Given the description of an element on the screen output the (x, y) to click on. 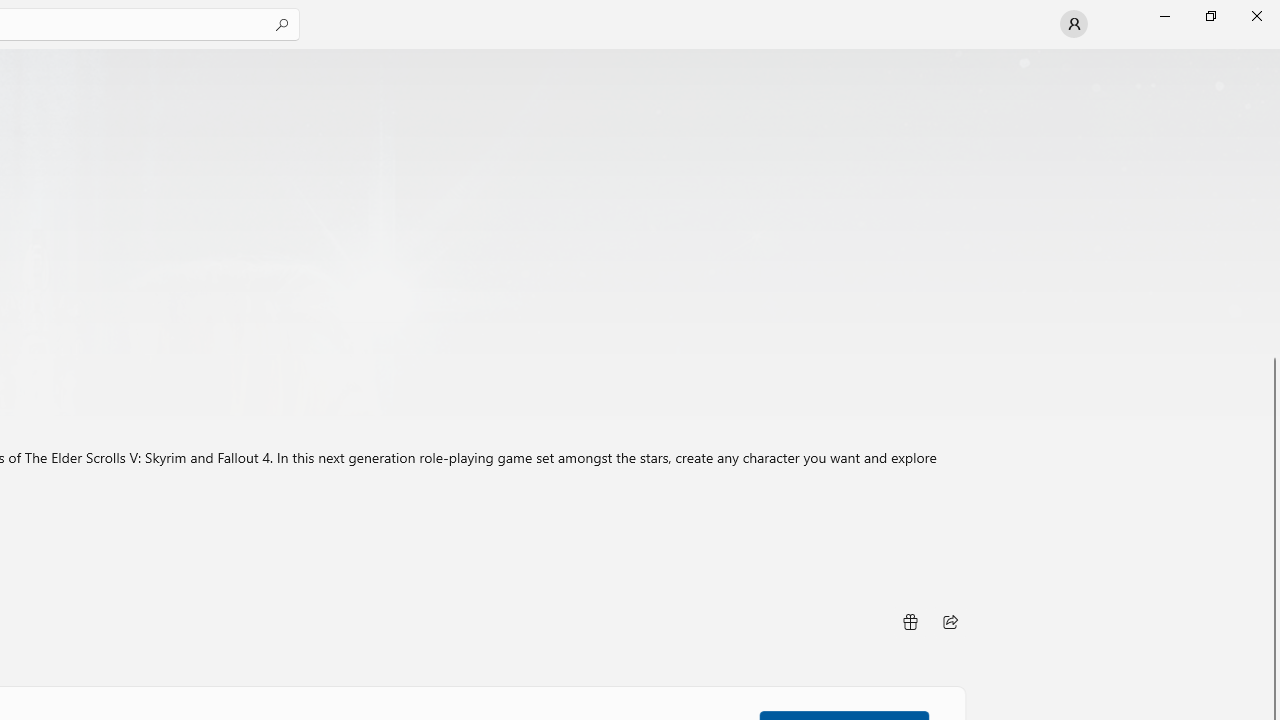
User profile (1073, 24)
Buy as gift (909, 621)
Close Microsoft Store (1256, 15)
Restore Microsoft Store (1210, 15)
Minimize Microsoft Store (1164, 15)
Vertical Large Decrease (1272, 207)
Share (950, 621)
Vertical Small Decrease (1272, 55)
